Given the description of an element on the screen output the (x, y) to click on. 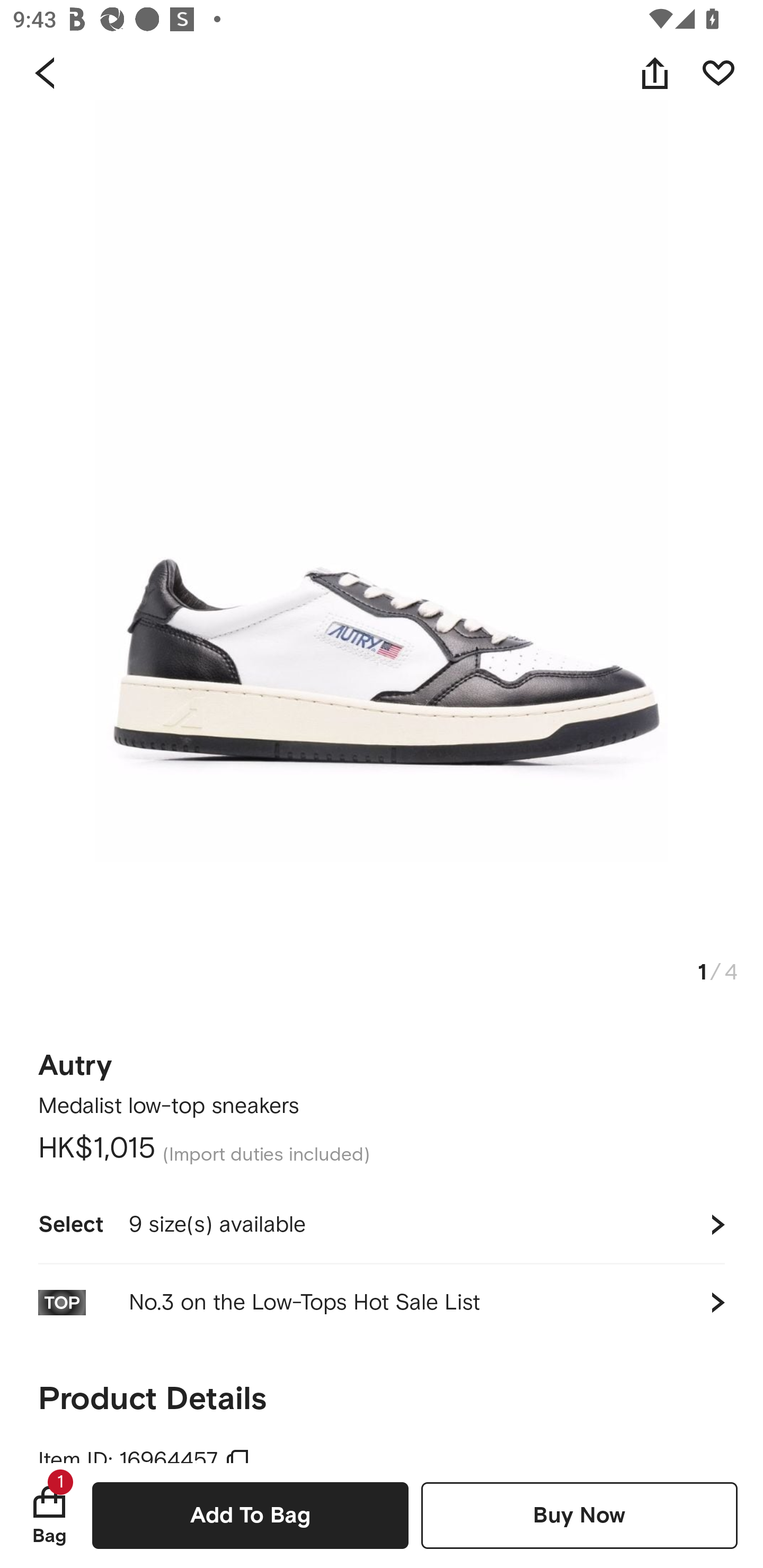
Autry (75, 1065)
Select 9 size(s) available (381, 1224)
No.3 on the Low-Tops Hot Sale List (381, 1301)
Bag 1 (49, 1515)
Add To Bag (250, 1515)
Buy Now (579, 1515)
